Given the description of an element on the screen output the (x, y) to click on. 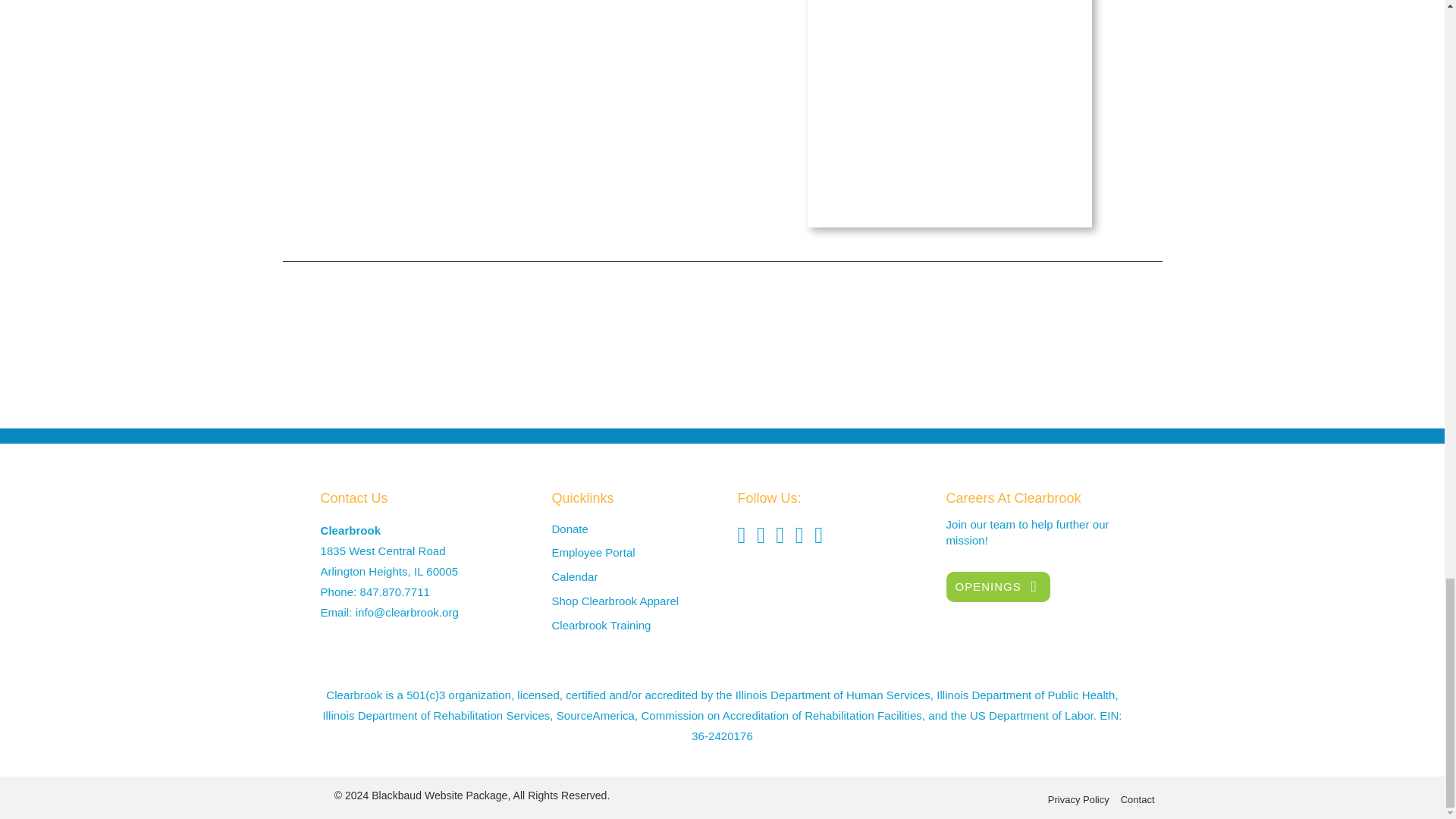
IMG 0593 (950, 113)
Facebook (740, 535)
Twitter (761, 535)
